Given the description of an element on the screen output the (x, y) to click on. 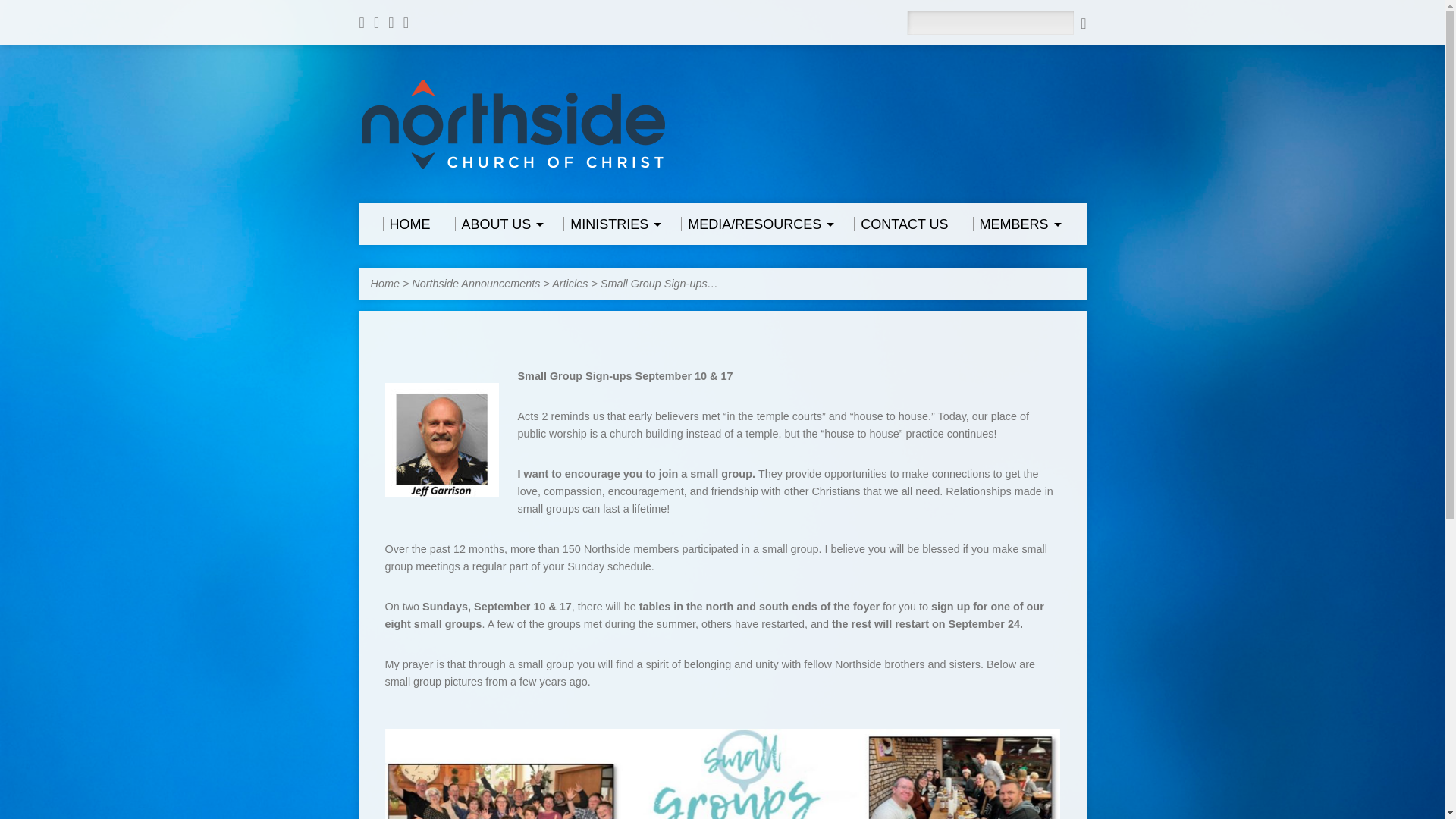
ABOUT US (497, 223)
HOME (405, 223)
MINISTRIES (609, 223)
